Given the description of an element on the screen output the (x, y) to click on. 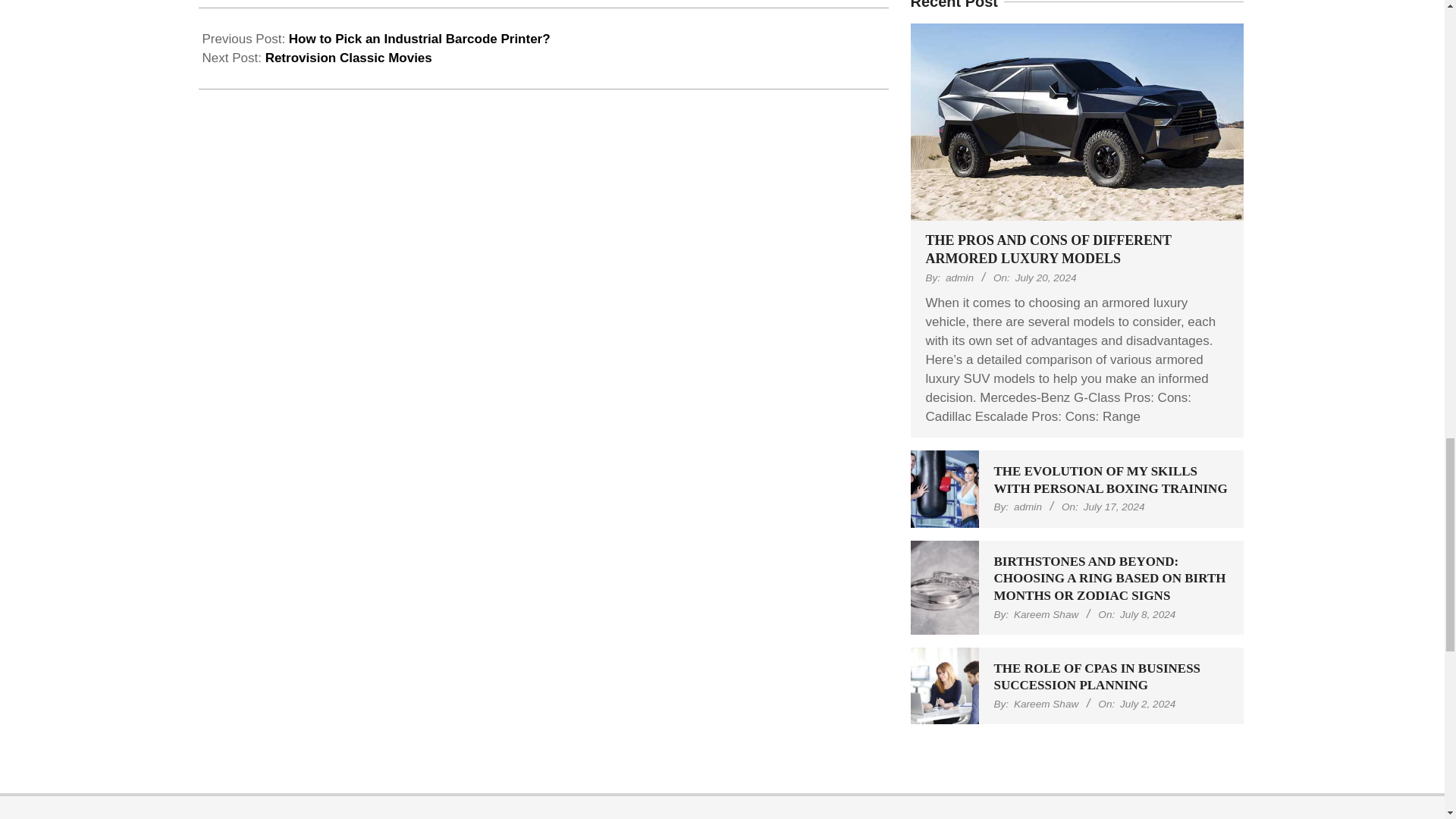
Monday, July 8, 2024, 5:50 am (1146, 614)
Posts by Kareem Shaw (1045, 704)
Posts by Kareem Shaw (1045, 614)
How to Pick an Industrial Barcode Printer? (419, 38)
Posts by admin (1027, 506)
Saturday, July 20, 2024, 11:45 pm (1045, 277)
Tuesday, July 2, 2024, 10:40 am (1146, 704)
Wednesday, July 17, 2024, 3:27 pm (1113, 506)
Retrovision Classic Movies (348, 57)
Posts by admin (959, 277)
